Given the description of an element on the screen output the (x, y) to click on. 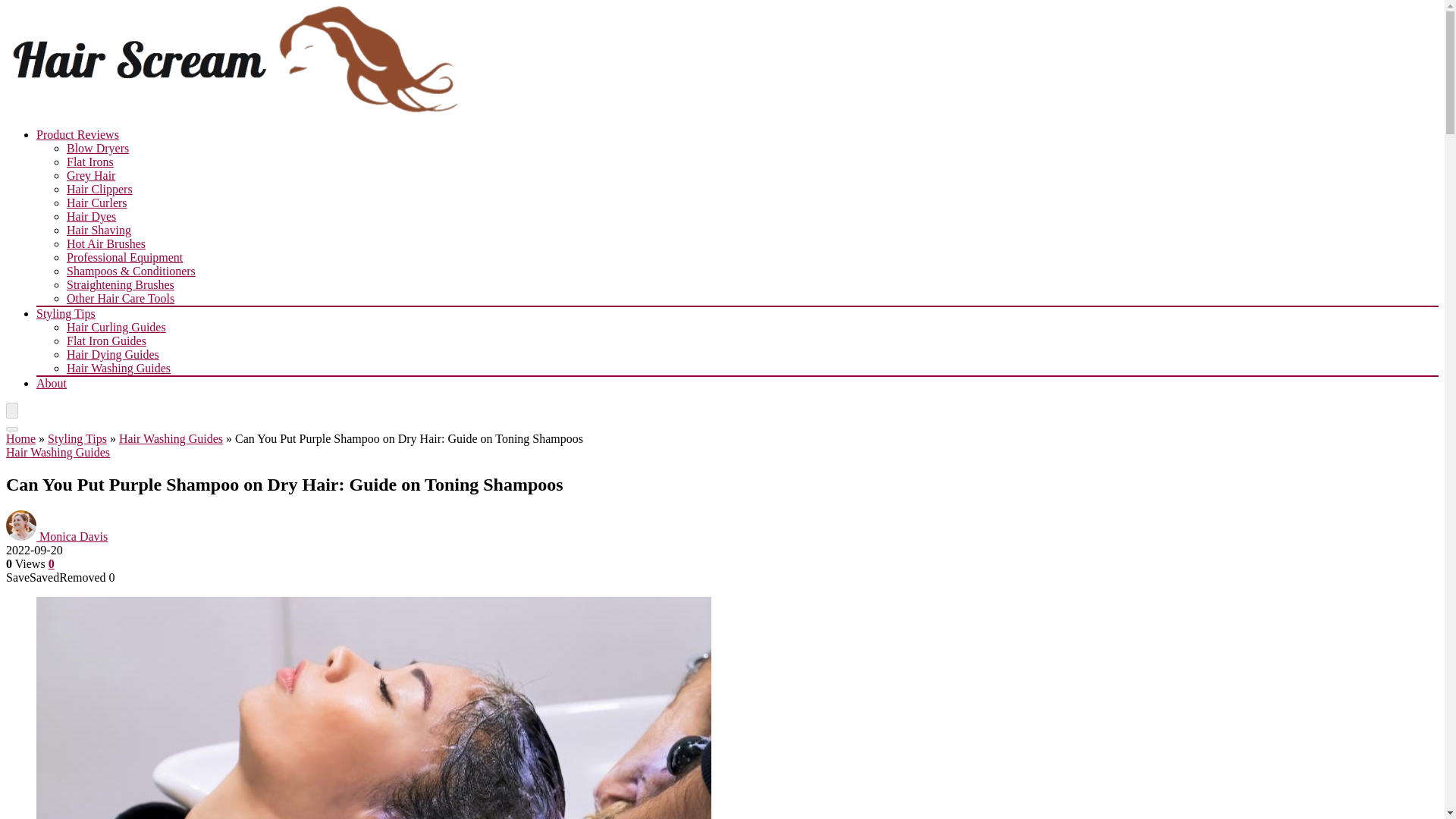
Hot Air Brushes (105, 243)
Hair Washing Guides (170, 438)
Hair Washing Guides (118, 367)
Hair Washing Guides (57, 451)
Home (19, 438)
About (51, 382)
Grey Hair (90, 174)
Product Reviews (77, 133)
Professional Equipment (124, 256)
Styling Tips (66, 313)
Hair Curling Guides (115, 327)
Styling Tips (77, 438)
Hair Dyes (91, 215)
View all posts in Hair Washing Guides (57, 451)
Hair Dying Guides (112, 354)
